Given the description of an element on the screen output the (x, y) to click on. 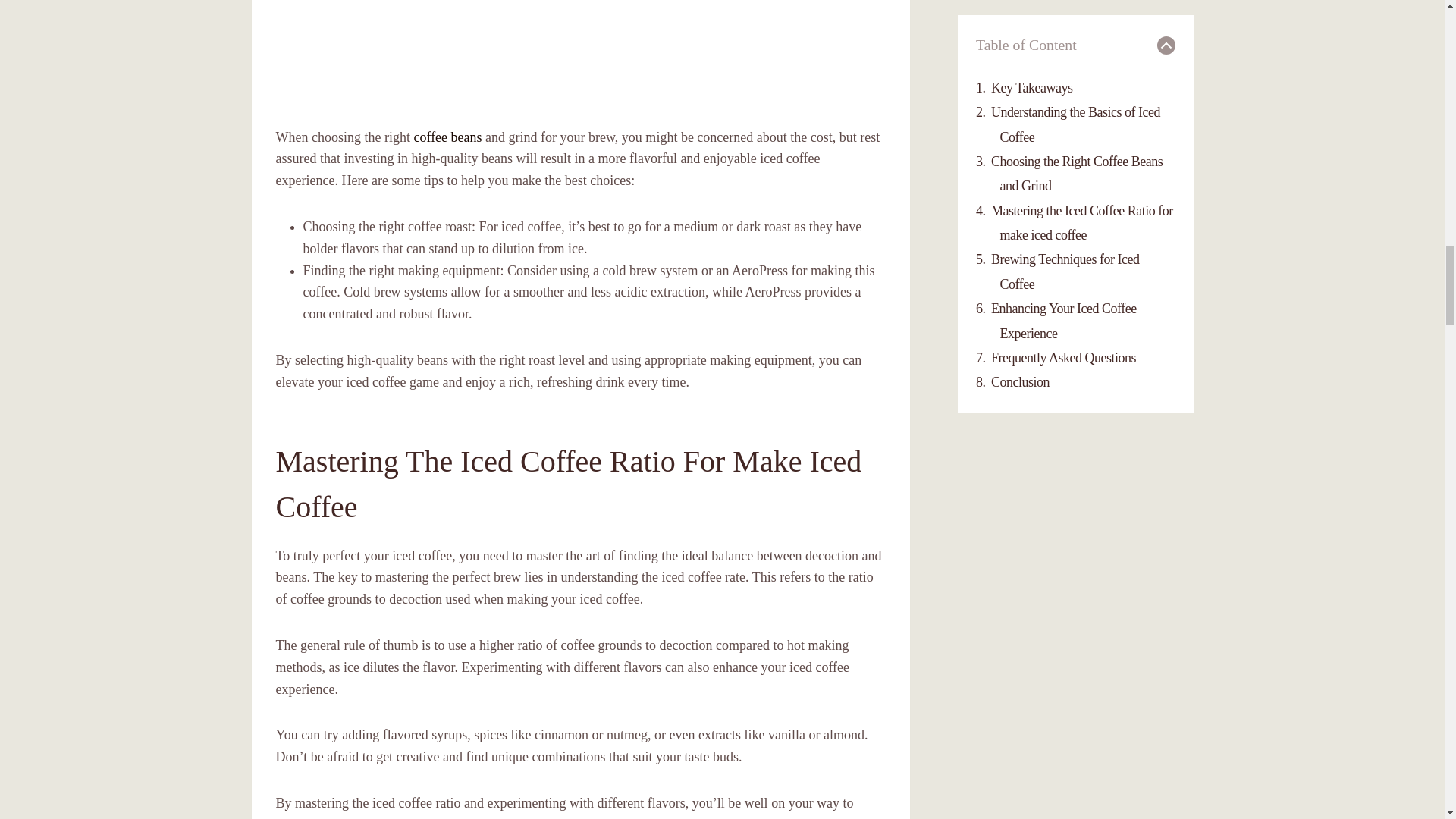
coffee beans (447, 136)
